Given the description of an element on the screen output the (x, y) to click on. 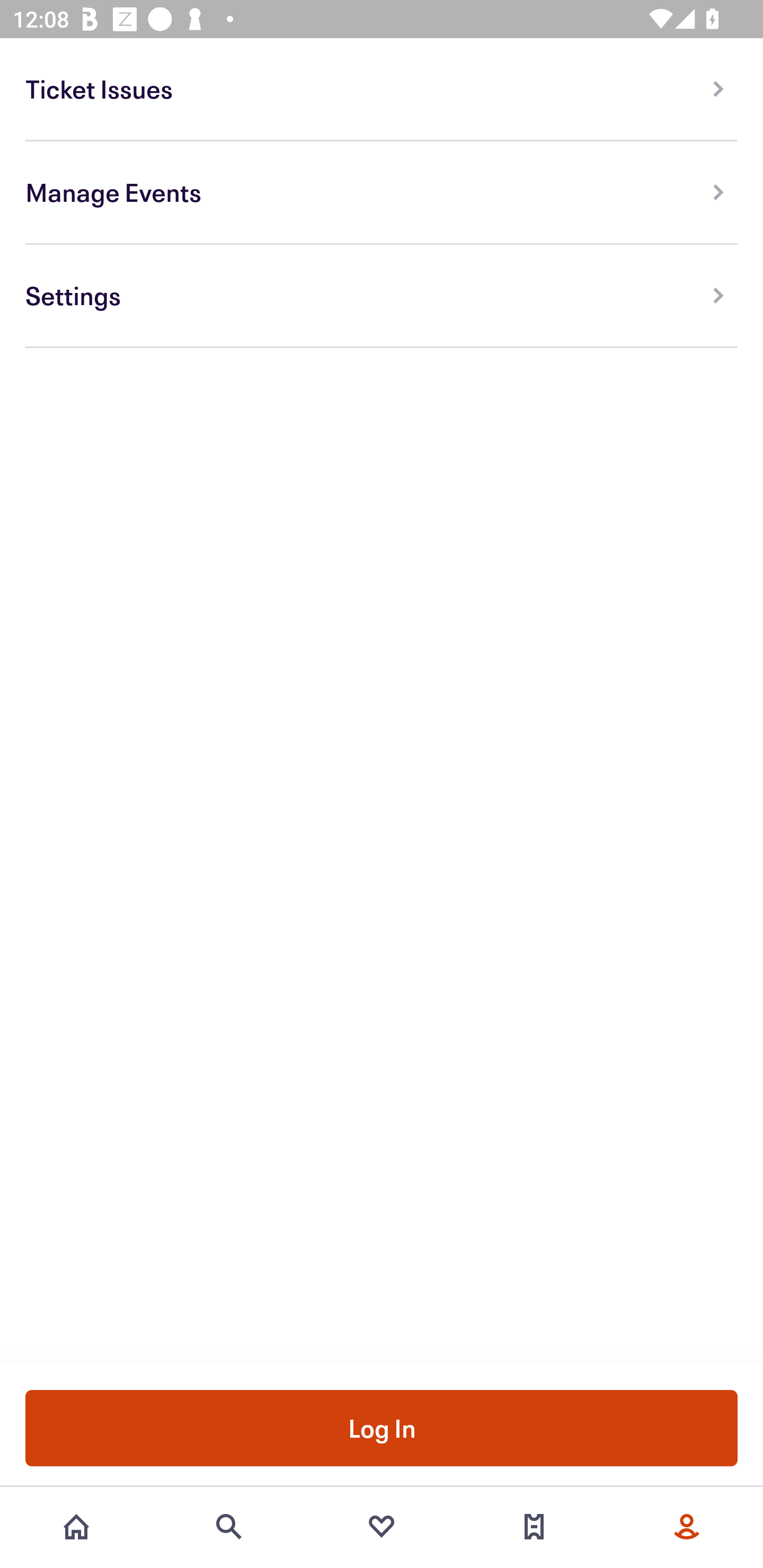
Ticket Issues (381, 89)
Manage Events (381, 192)
Settings (381, 296)
Log In (381, 1427)
Home (76, 1526)
Search events (228, 1526)
Favorites (381, 1526)
Tickets (533, 1526)
More (686, 1526)
